Given the description of an element on the screen output the (x, y) to click on. 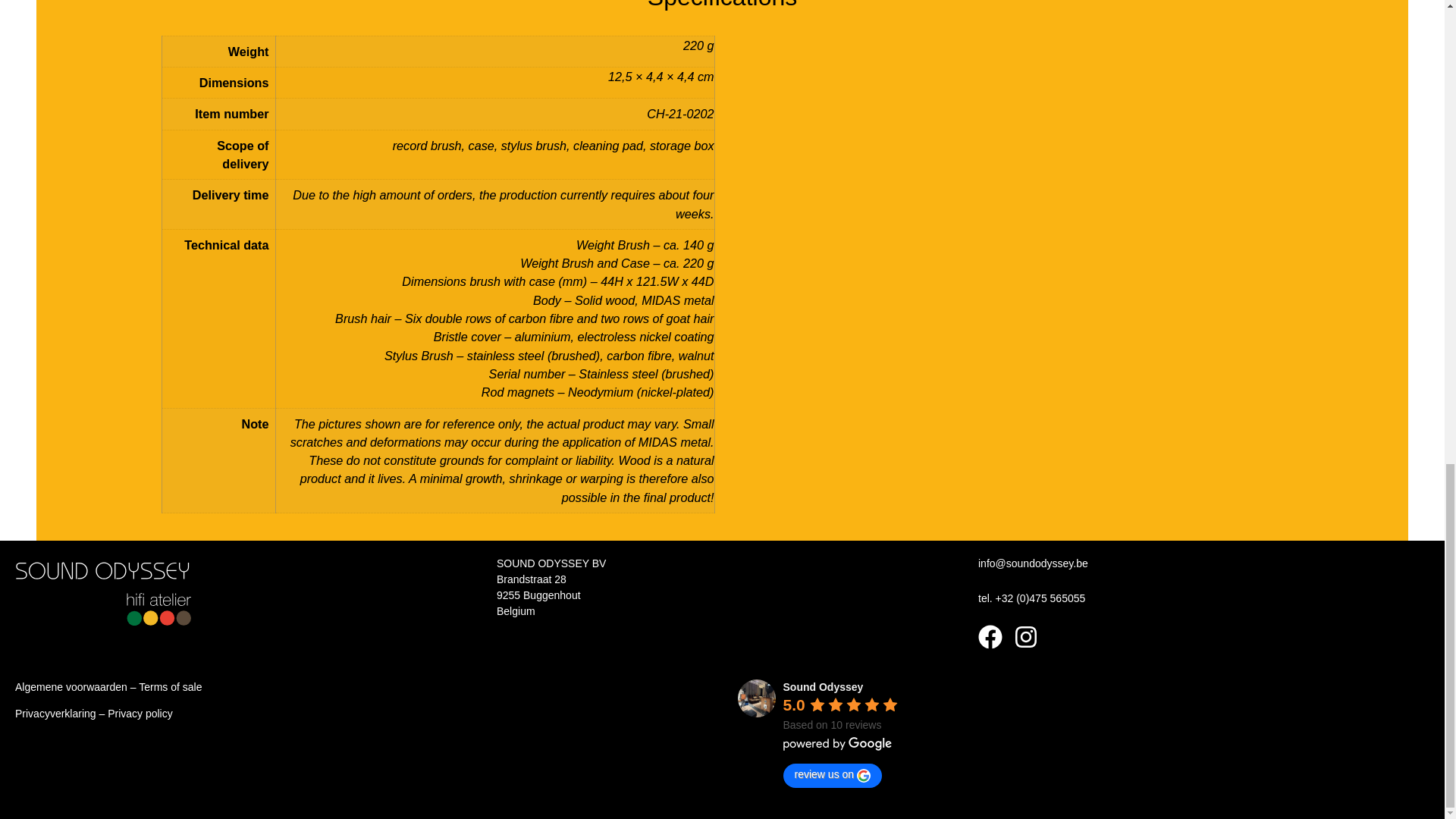
Sound Odyssey (823, 686)
